Given the description of an element on the screen output the (x, y) to click on. 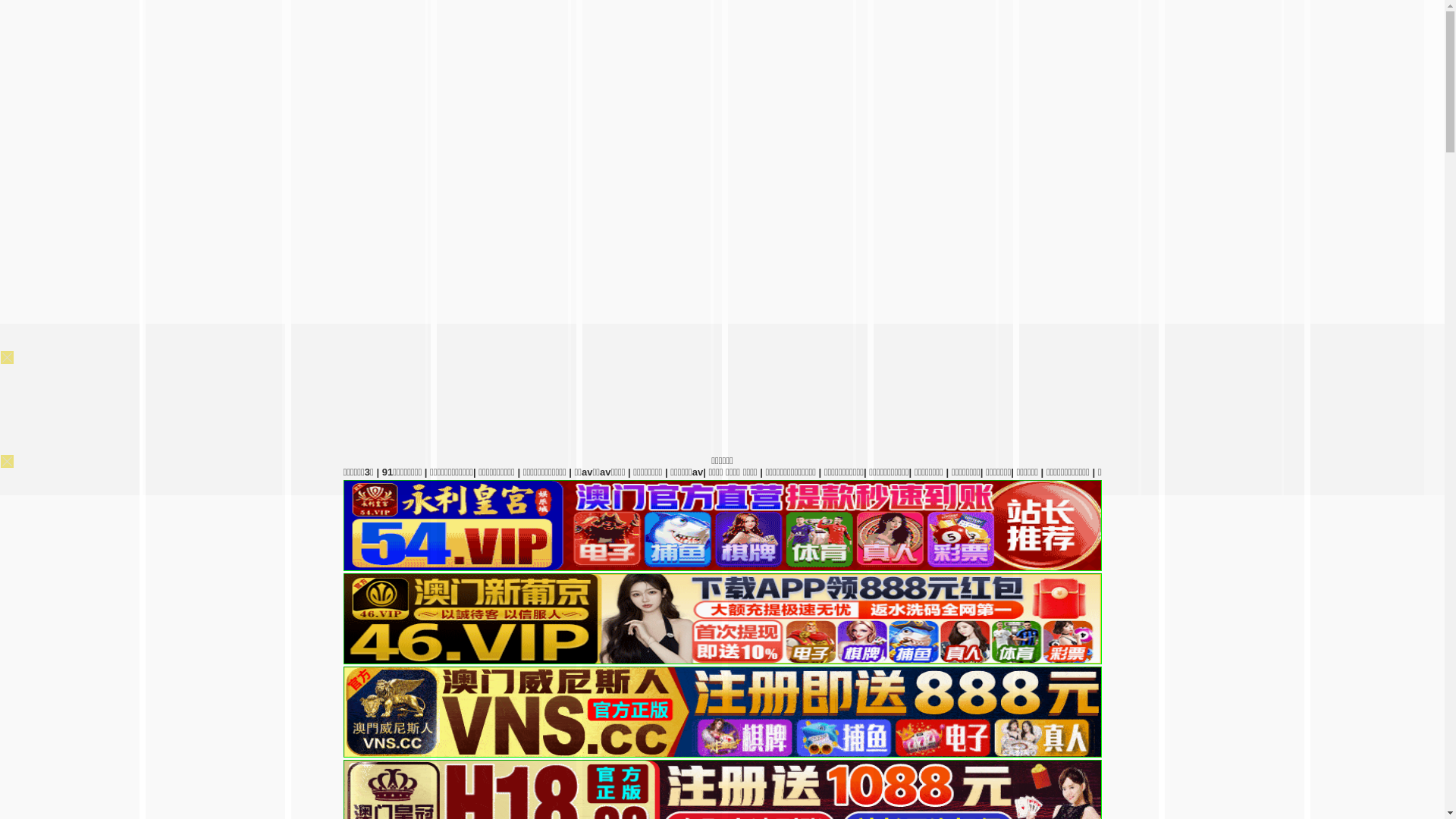
| Element type: text (1223, 471)
| Element type: text (1422, 471)
| Element type: text (1286, 471)
| Element type: text (1097, 471)
| Element type: text (1184, 471)
| Element type: text (1379, 471)
| Element type: text (1144, 471)
| Element type: text (1057, 471)
| Element type: text (1033, 471)
| Element type: text (1332, 471)
